Given the description of an element on the screen output the (x, y) to click on. 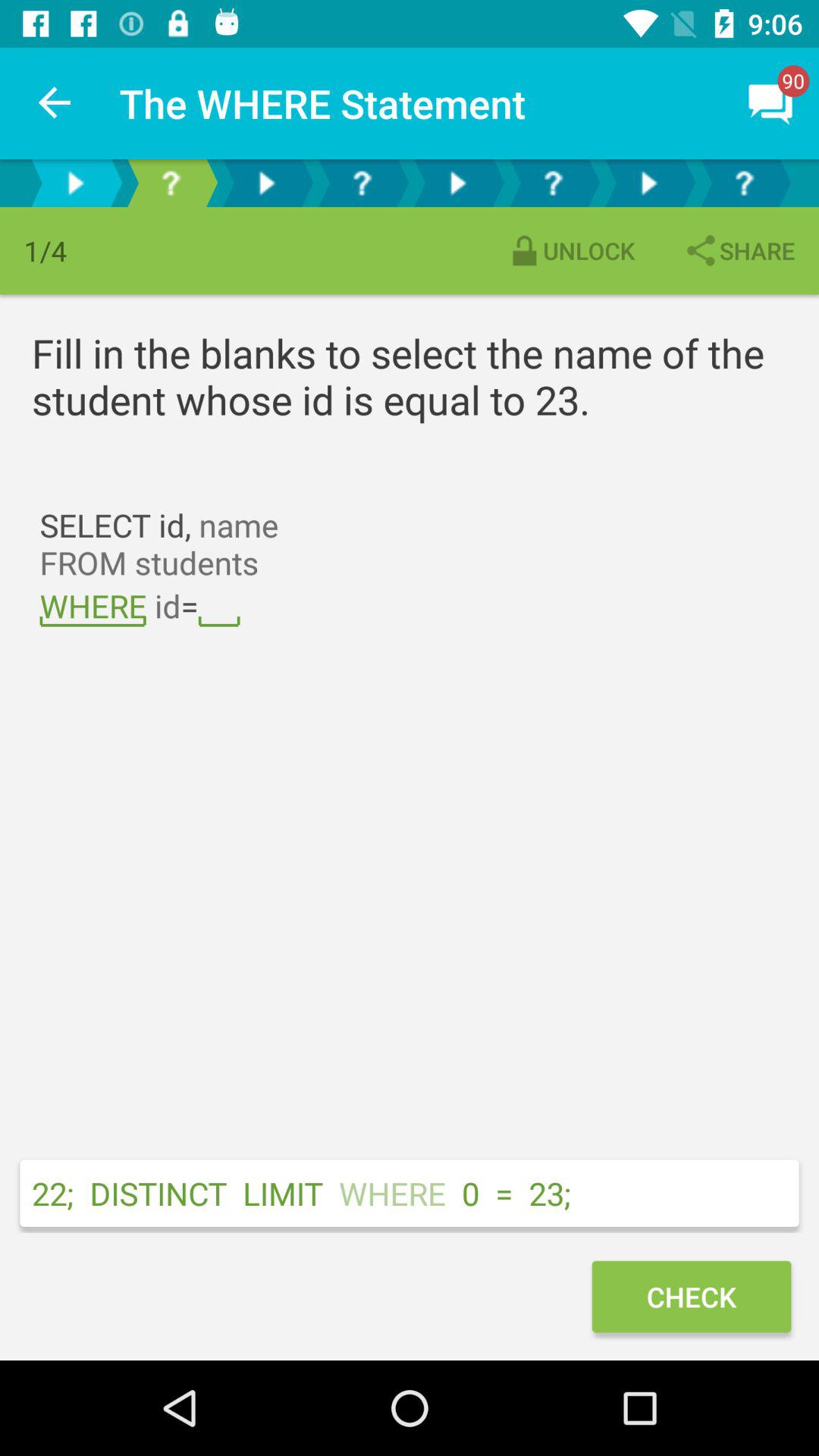
go to help (170, 183)
